Given the description of an element on the screen output the (x, y) to click on. 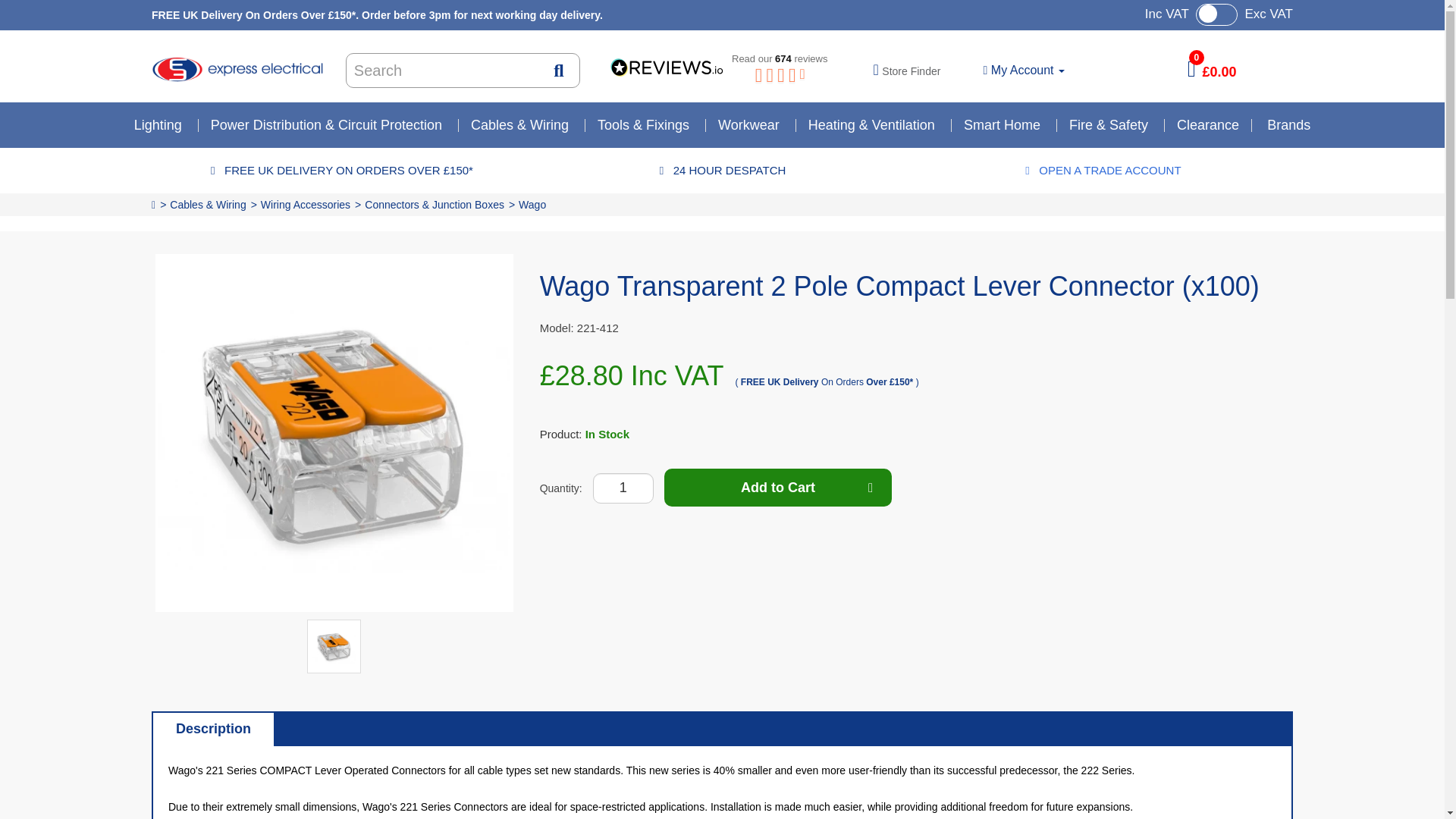
My Account (1024, 69)
Store Finder (906, 70)
Reviews Badge Ribbon Widget (723, 68)
1 (622, 488)
Express Electrical (237, 68)
My Account (1024, 69)
